Given the description of an element on the screen output the (x, y) to click on. 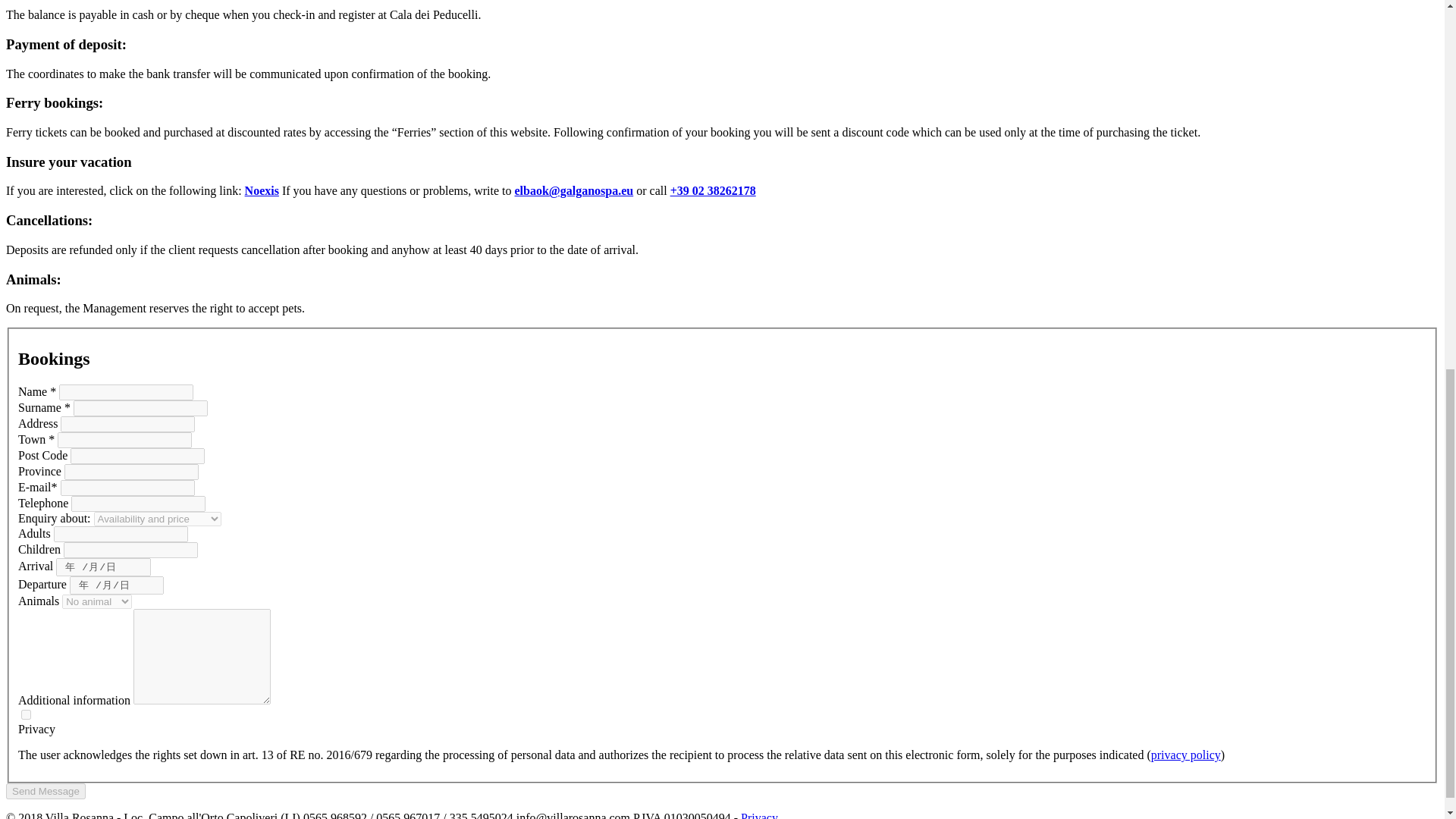
Noexis (261, 190)
Send Message (45, 790)
privacy policy (1186, 754)
ON (25, 714)
